Given the description of an element on the screen output the (x, y) to click on. 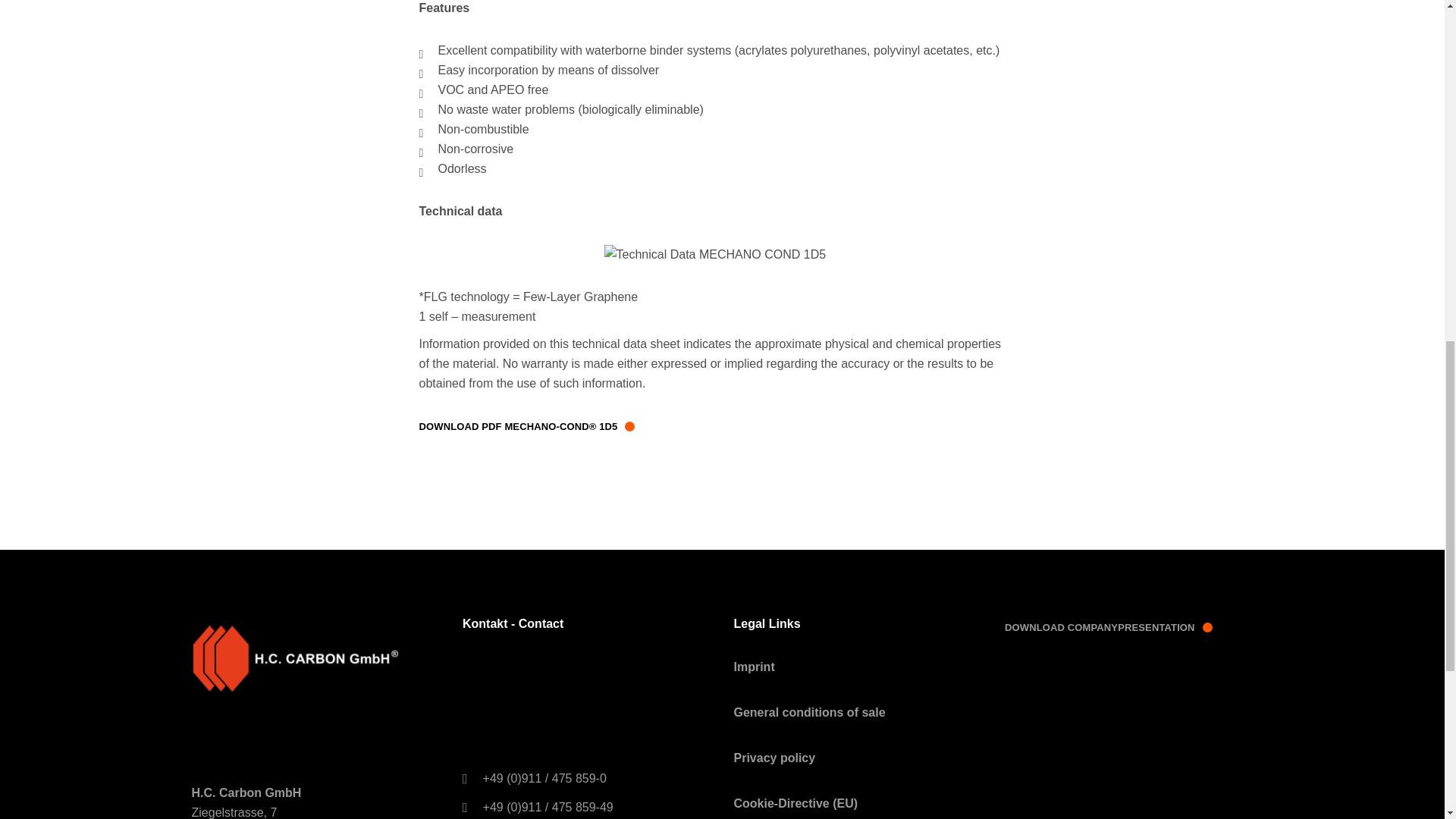
Technical Data MECHANO COND 1D5 (715, 254)
